Given the description of an element on the screen output the (x, y) to click on. 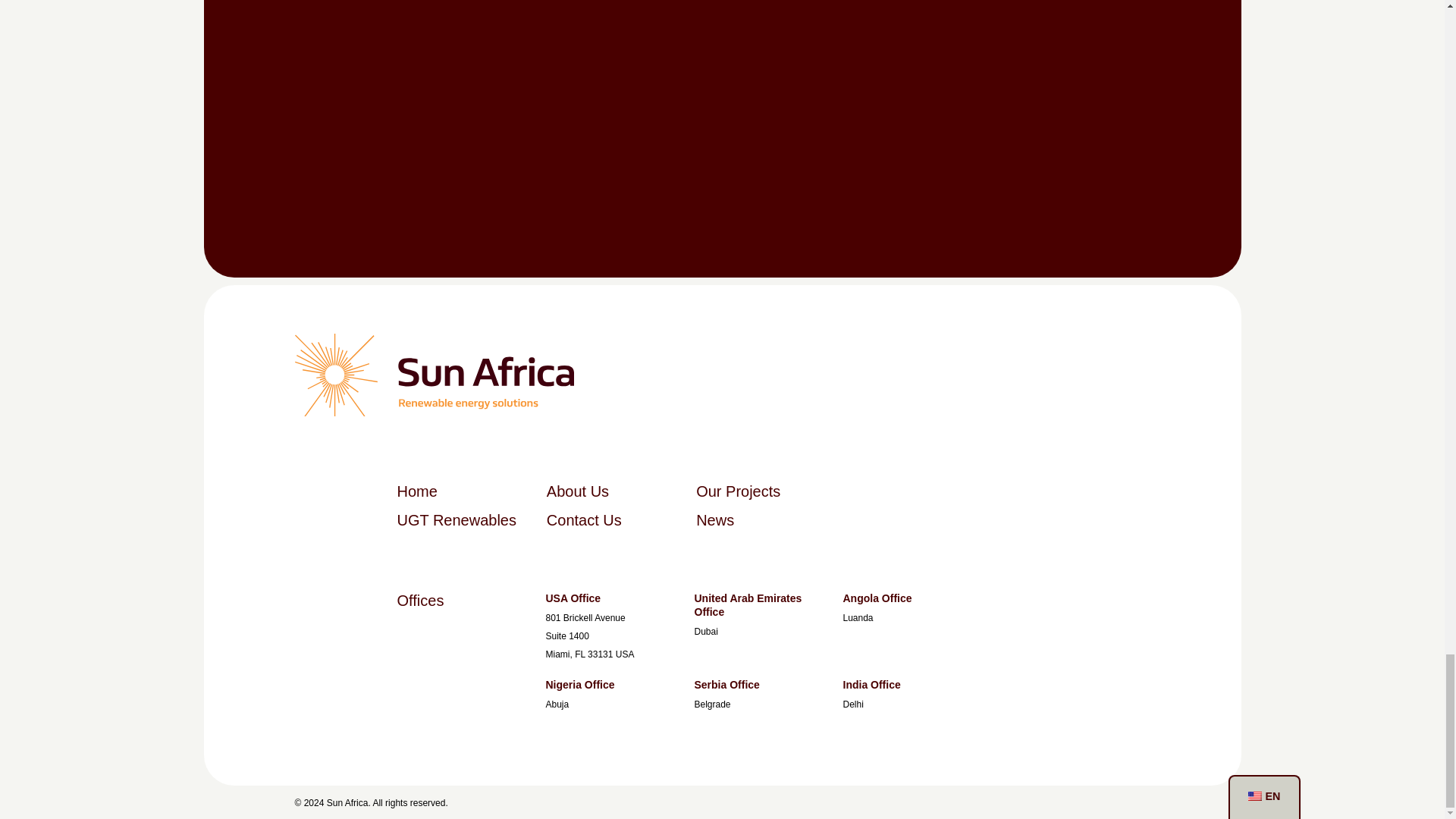
Home (417, 491)
UGT Renewables (456, 520)
Contact Us (584, 520)
About Us (577, 491)
Our Projects (737, 491)
News (714, 520)
